Given the description of an element on the screen output the (x, y) to click on. 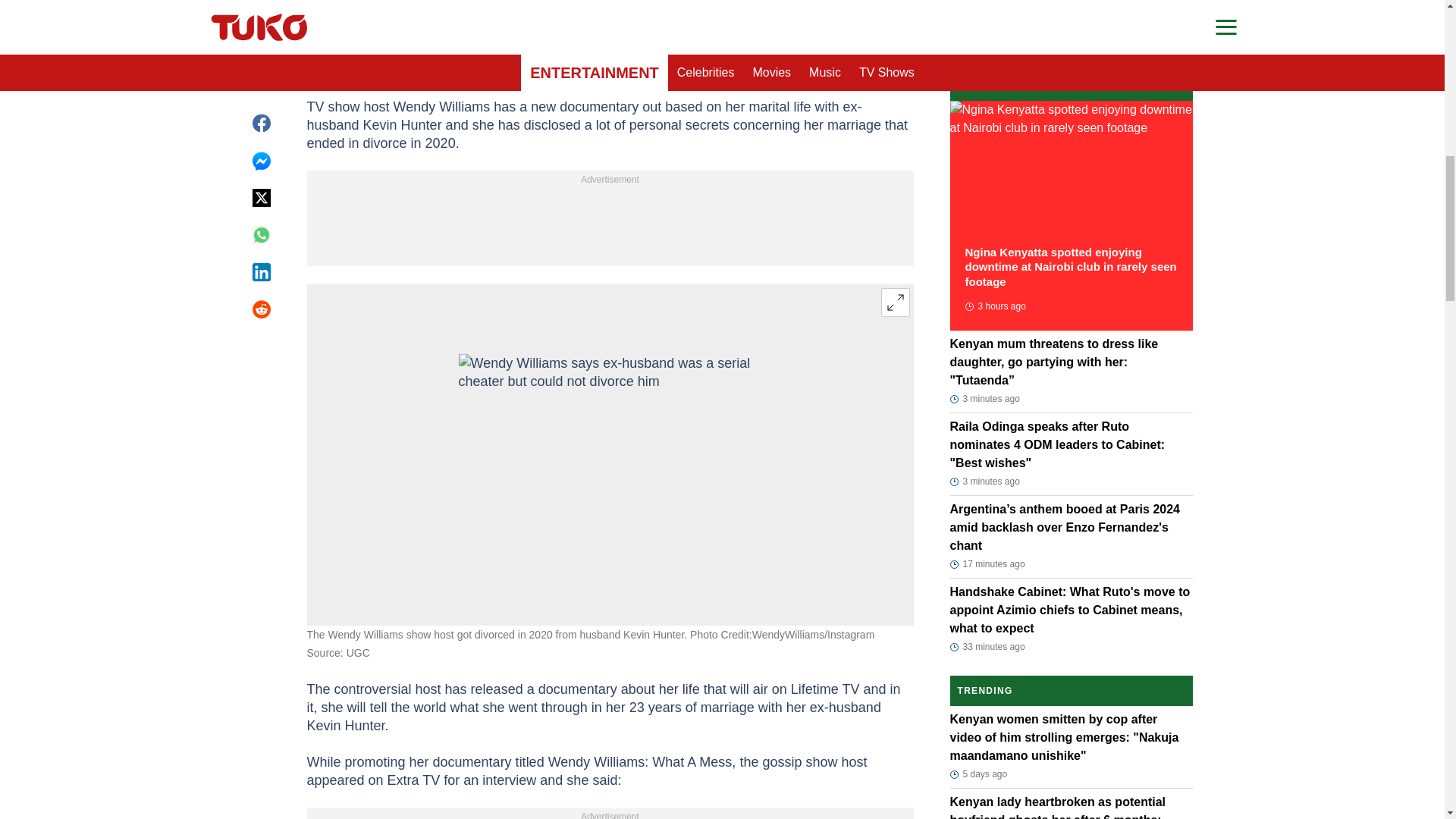
Expand image (895, 302)
